Given the description of an element on the screen output the (x, y) to click on. 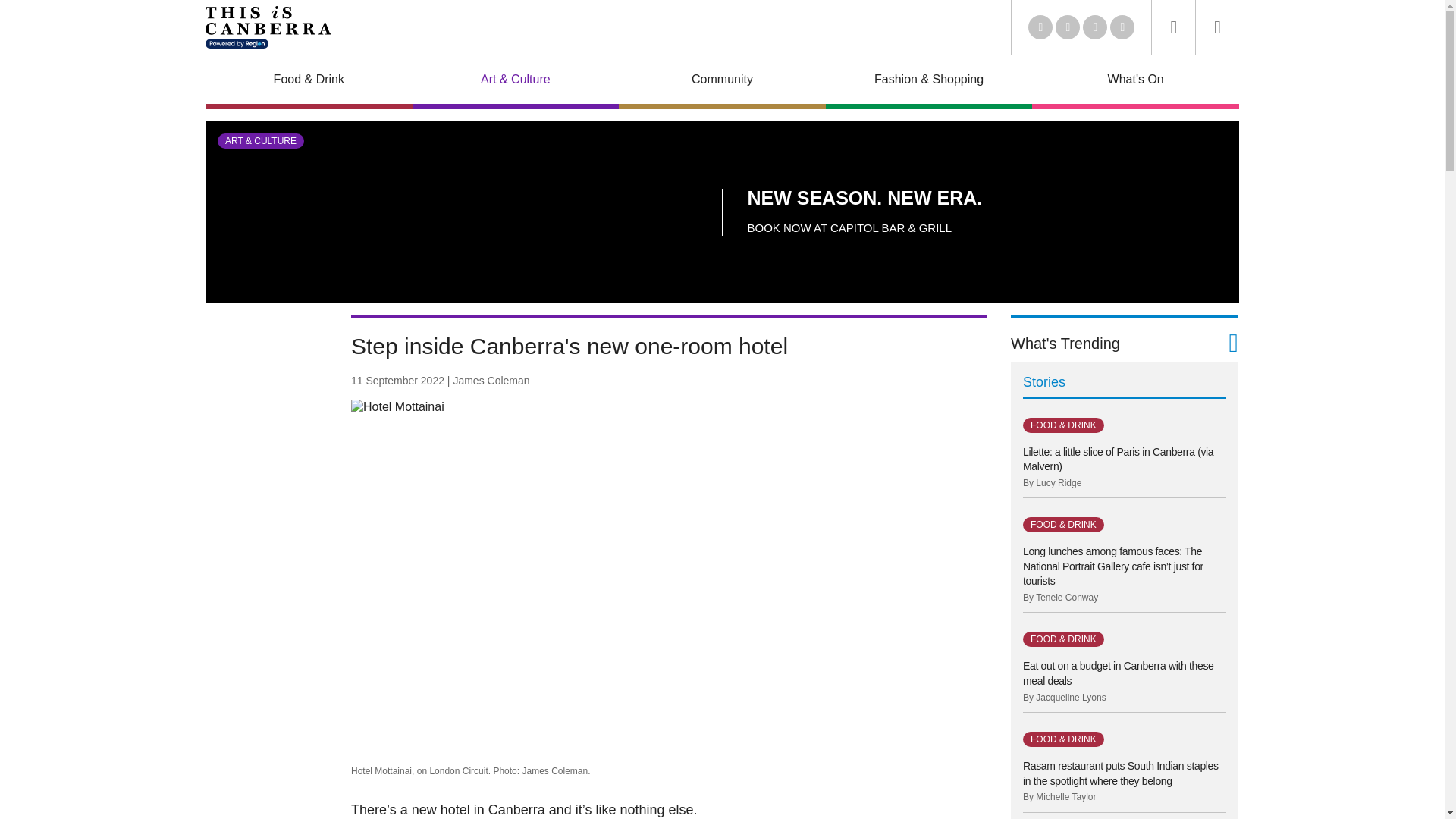
TikTok (1121, 27)
Facebook (1067, 27)
Community (721, 81)
Instagram (1094, 27)
Twitter (1039, 27)
This is Canberra Home (268, 26)
